Given the description of an element on the screen output the (x, y) to click on. 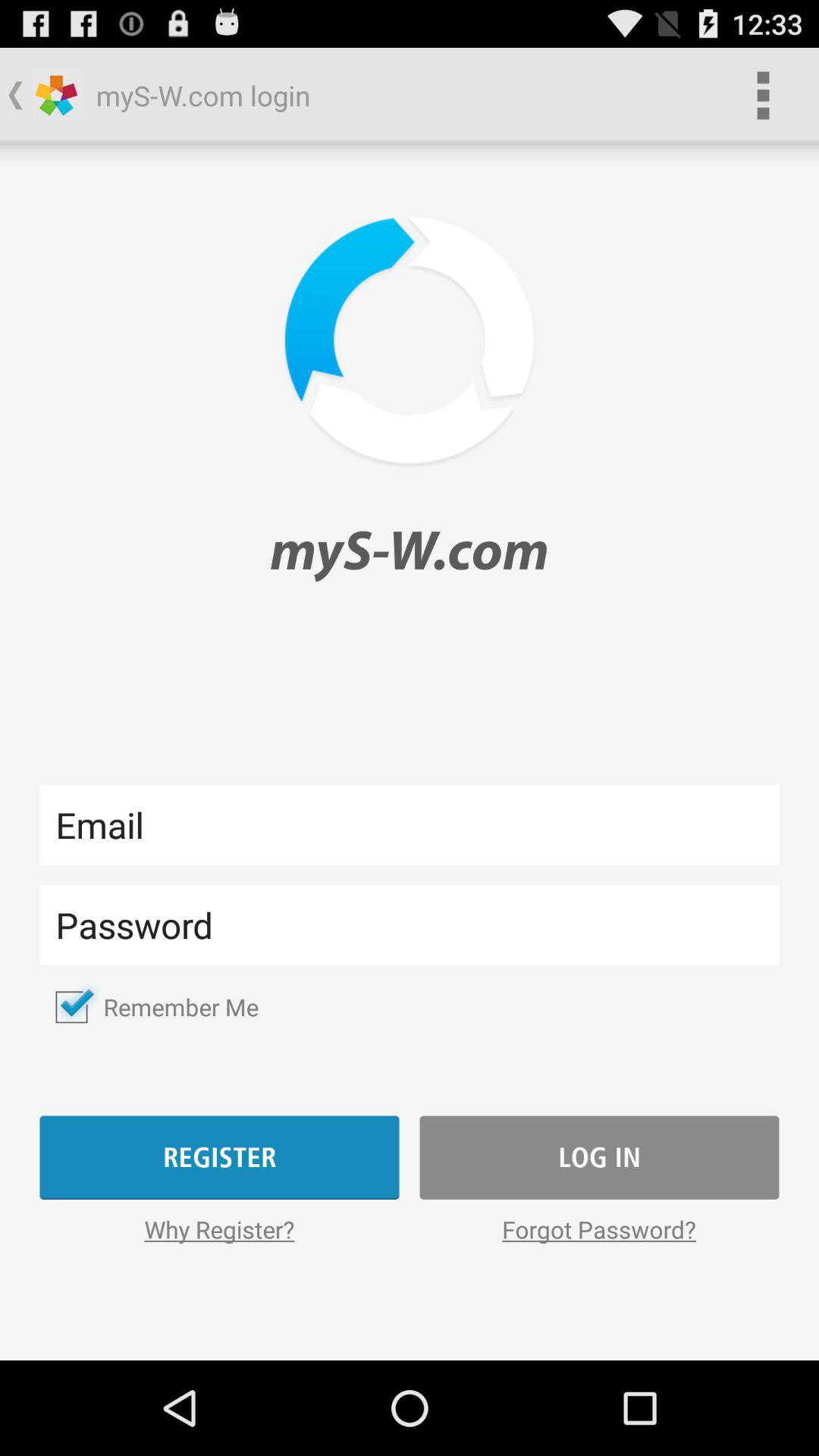
type email (409, 824)
